Given the description of an element on the screen output the (x, y) to click on. 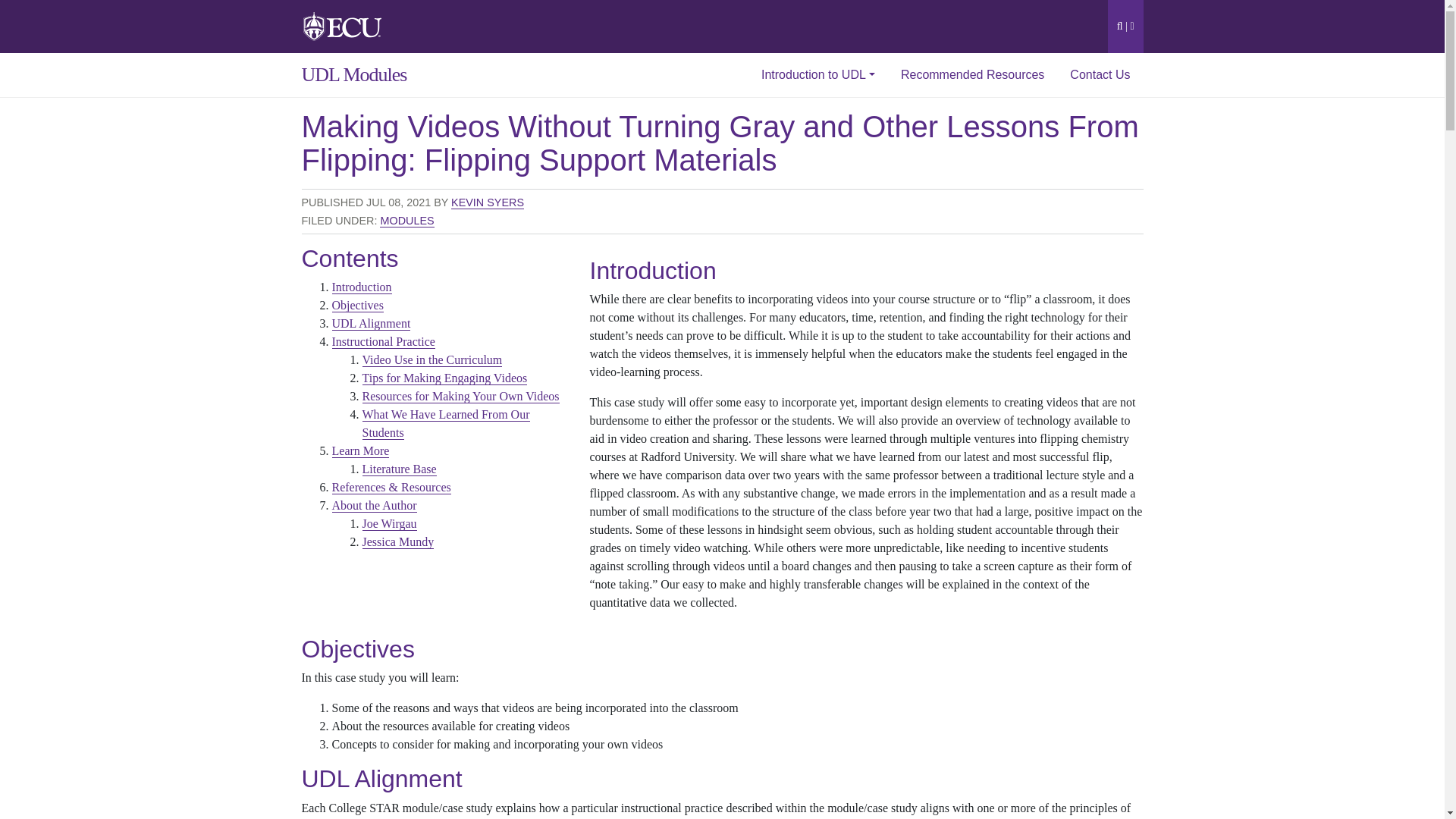
East Carolina University (342, 24)
UDL Modules (345, 75)
KEVIN SYERS (487, 202)
Recommended Resources (972, 75)
Introduction to UDL (818, 75)
Recommended Resources (972, 75)
Introduction (361, 287)
Introduction to UDL (818, 75)
Objectives (357, 305)
Contact Us (1099, 75)
Contact Us (1099, 75)
MODULES (406, 220)
